Given the description of an element on the screen output the (x, y) to click on. 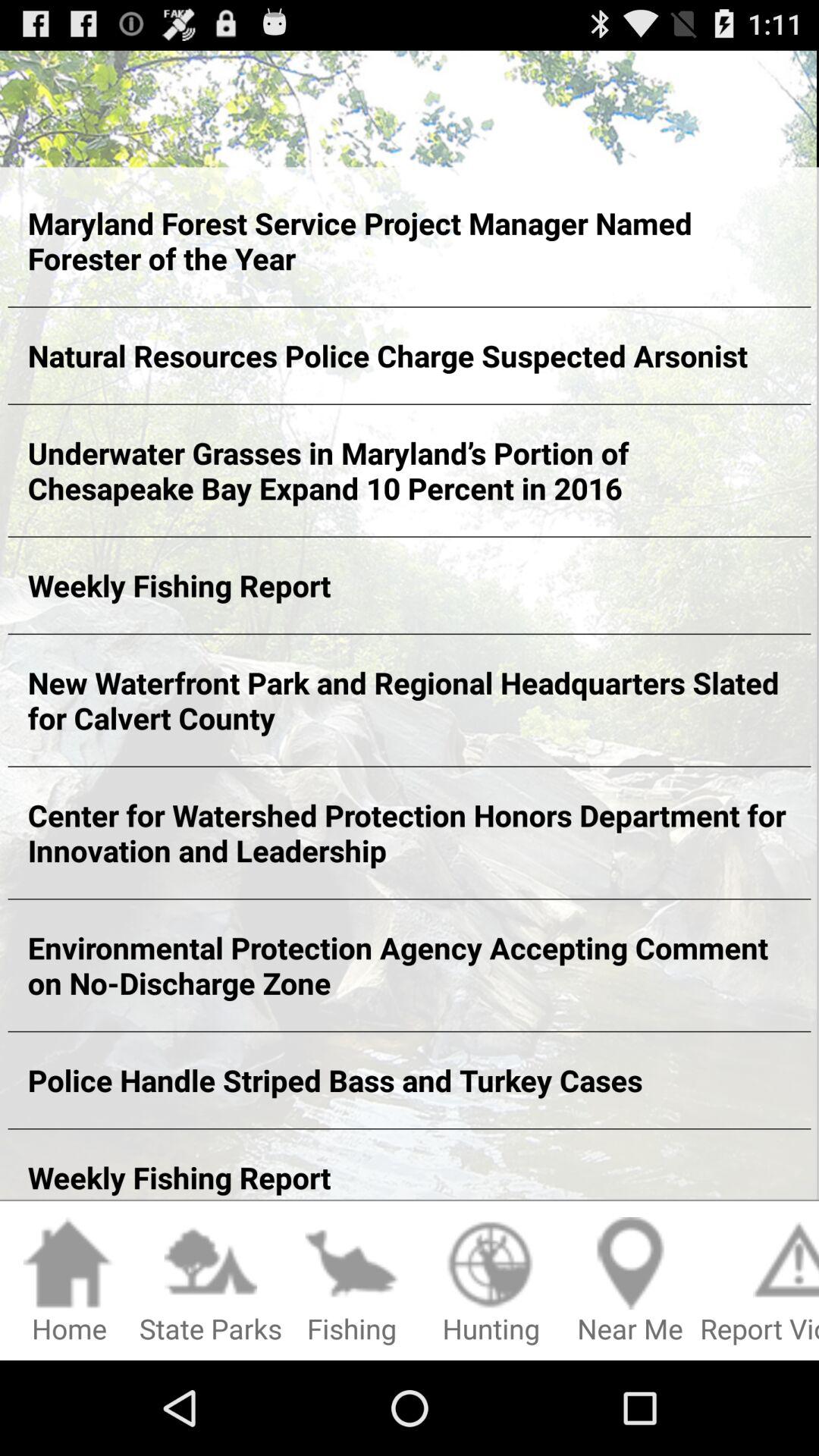
turn on the item next to the state parks (69, 1282)
